Given the description of an element on the screen output the (x, y) to click on. 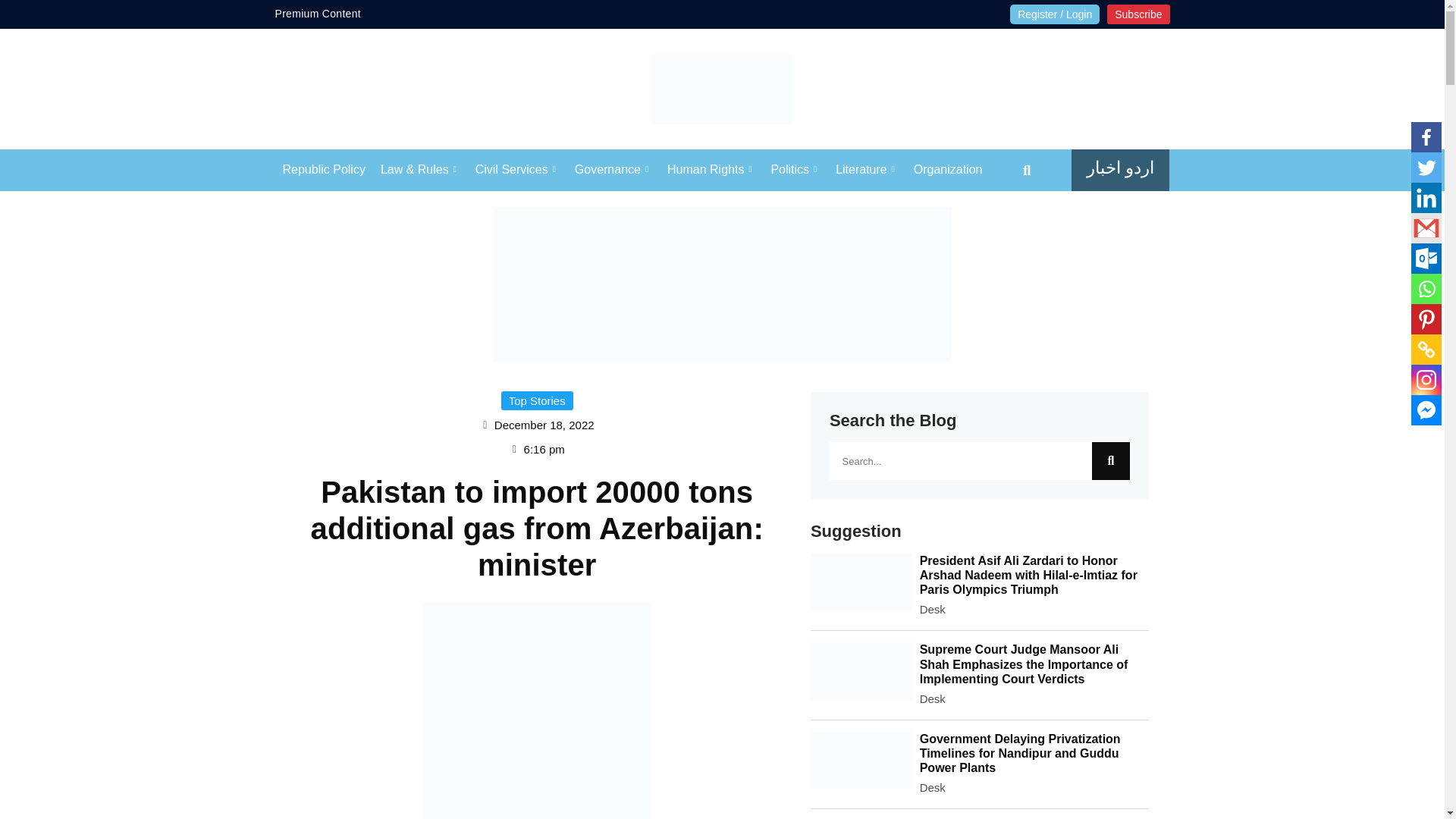
Republic Policy (323, 170)
Twitter (1425, 167)
Facebook (1425, 137)
Subscribe (1137, 14)
Google Gmail (1425, 227)
Linkedin (1425, 197)
Civil Services (517, 170)
